Given the description of an element on the screen output the (x, y) to click on. 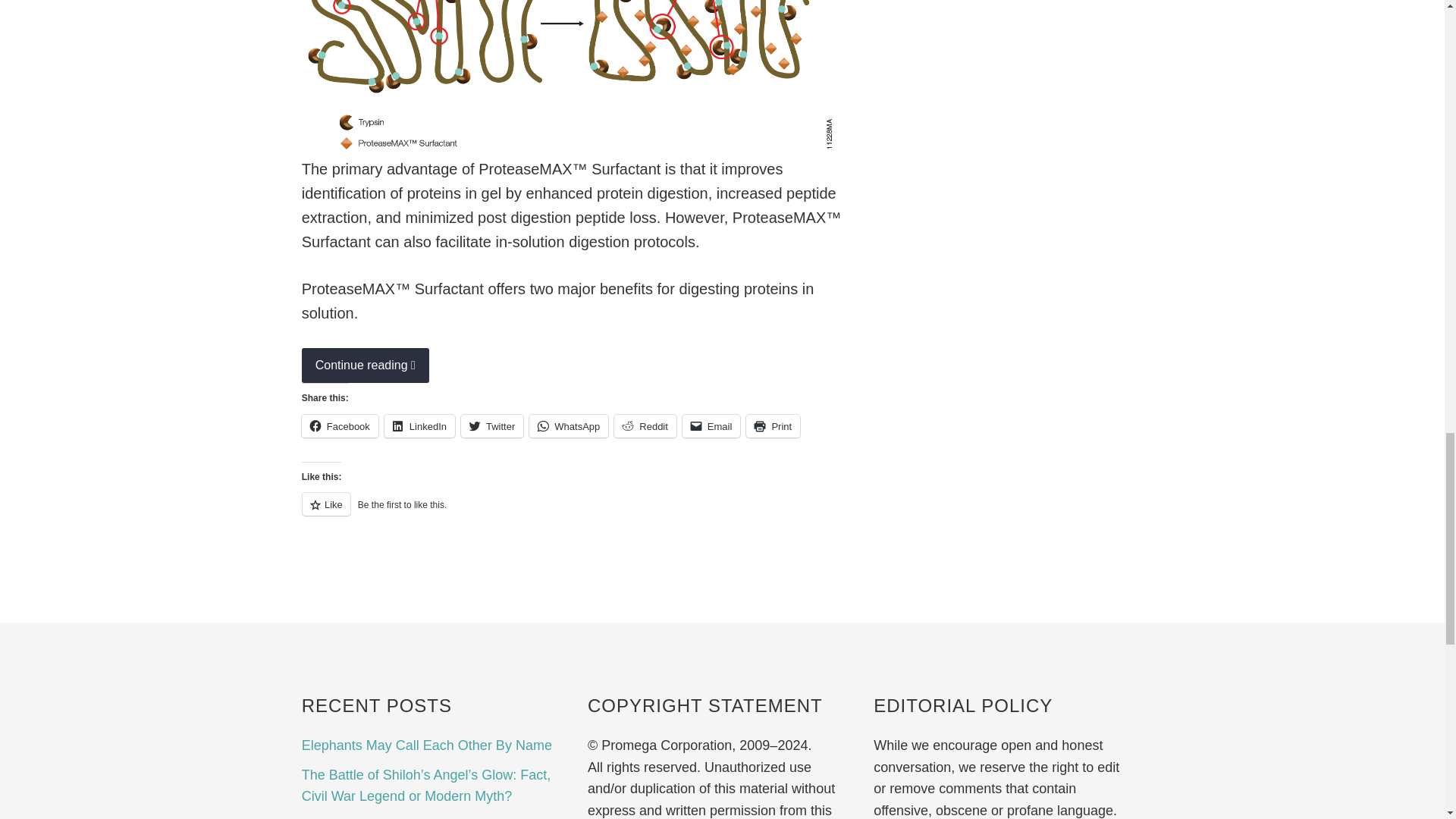
Click to share on LinkedIn (419, 425)
Click to print (772, 425)
Click to email a link to a friend (711, 425)
Click to share on Facebook (339, 425)
Like or Reblog (574, 512)
Click to share on Twitter (491, 425)
Click to share on Reddit (645, 425)
Click to share on WhatsApp (568, 425)
